Given the description of an element on the screen output the (x, y) to click on. 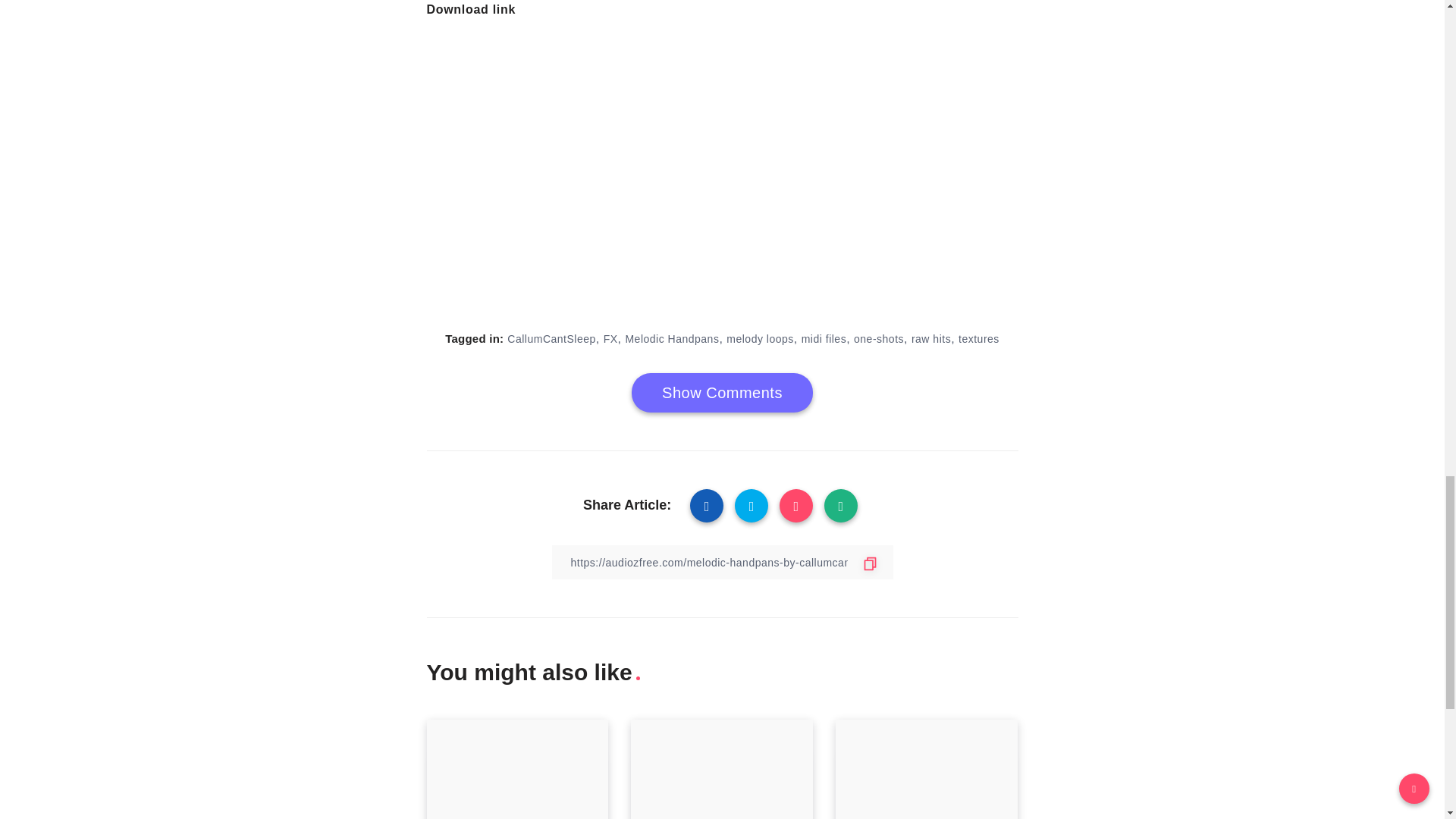
Show Comments (721, 392)
raw hits (930, 338)
Download link (470, 9)
Melodic Handpans (671, 338)
textures (978, 338)
melody loops (759, 338)
FX (610, 338)
CallumCantSleep (550, 338)
midi files (823, 338)
one-shots (878, 338)
